Given the description of an element on the screen output the (x, y) to click on. 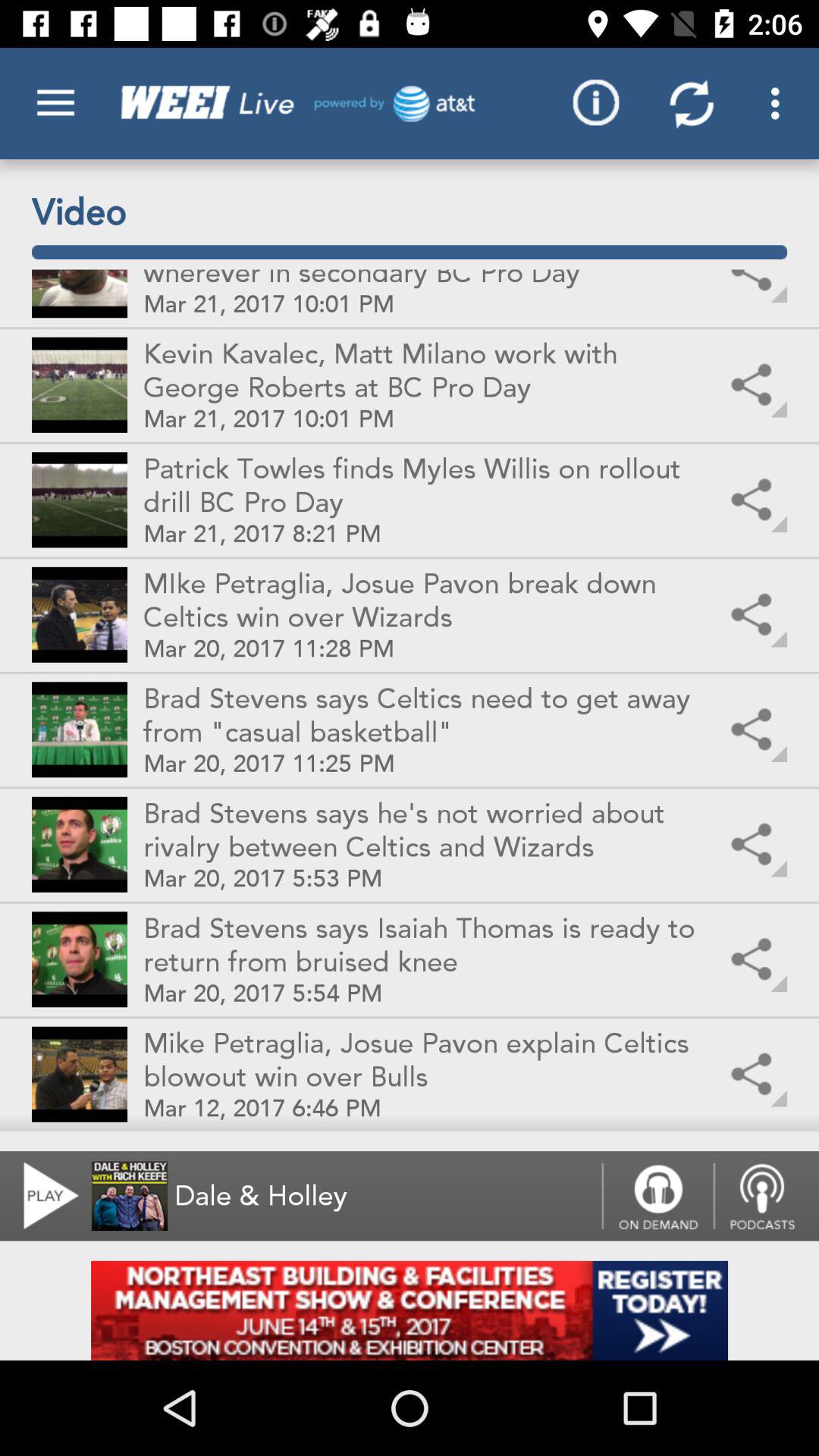
toggle the advertisement option (409, 1310)
